Given the description of an element on the screen output the (x, y) to click on. 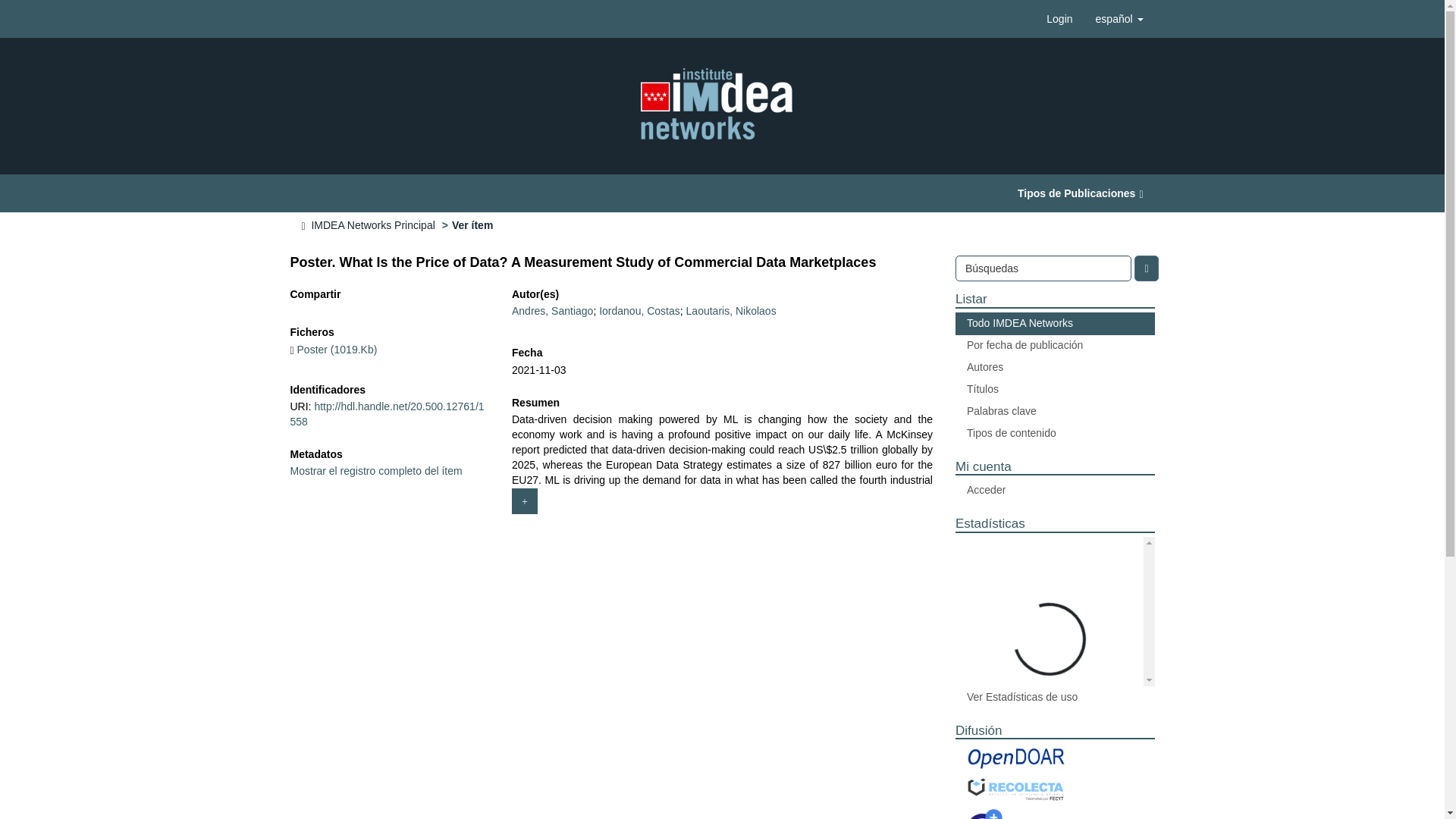
Laoutaris, Nikolaos (730, 310)
Todo IMDEA Networks (1054, 323)
IMDEA Networks Principal (372, 224)
Login (1059, 18)
Autores (1054, 367)
Iordanou, Costas (638, 310)
Ir (1145, 268)
Tipos de Publicaciones (1080, 193)
Andres, Santiago (552, 310)
